Given the description of an element on the screen output the (x, y) to click on. 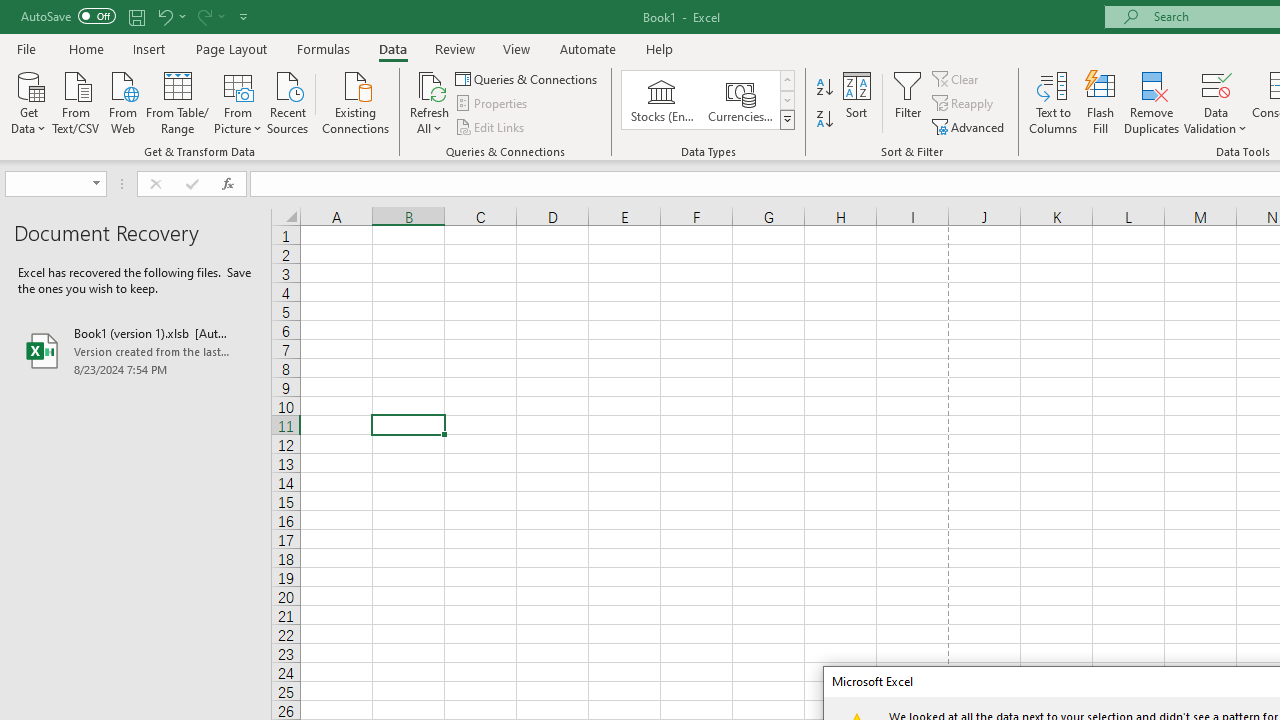
Existing Connections (355, 101)
From Text/CSV (75, 101)
Sort... (856, 102)
From Picture (238, 101)
Currencies (English) (740, 100)
Get Data (28, 101)
